Given the description of an element on the screen output the (x, y) to click on. 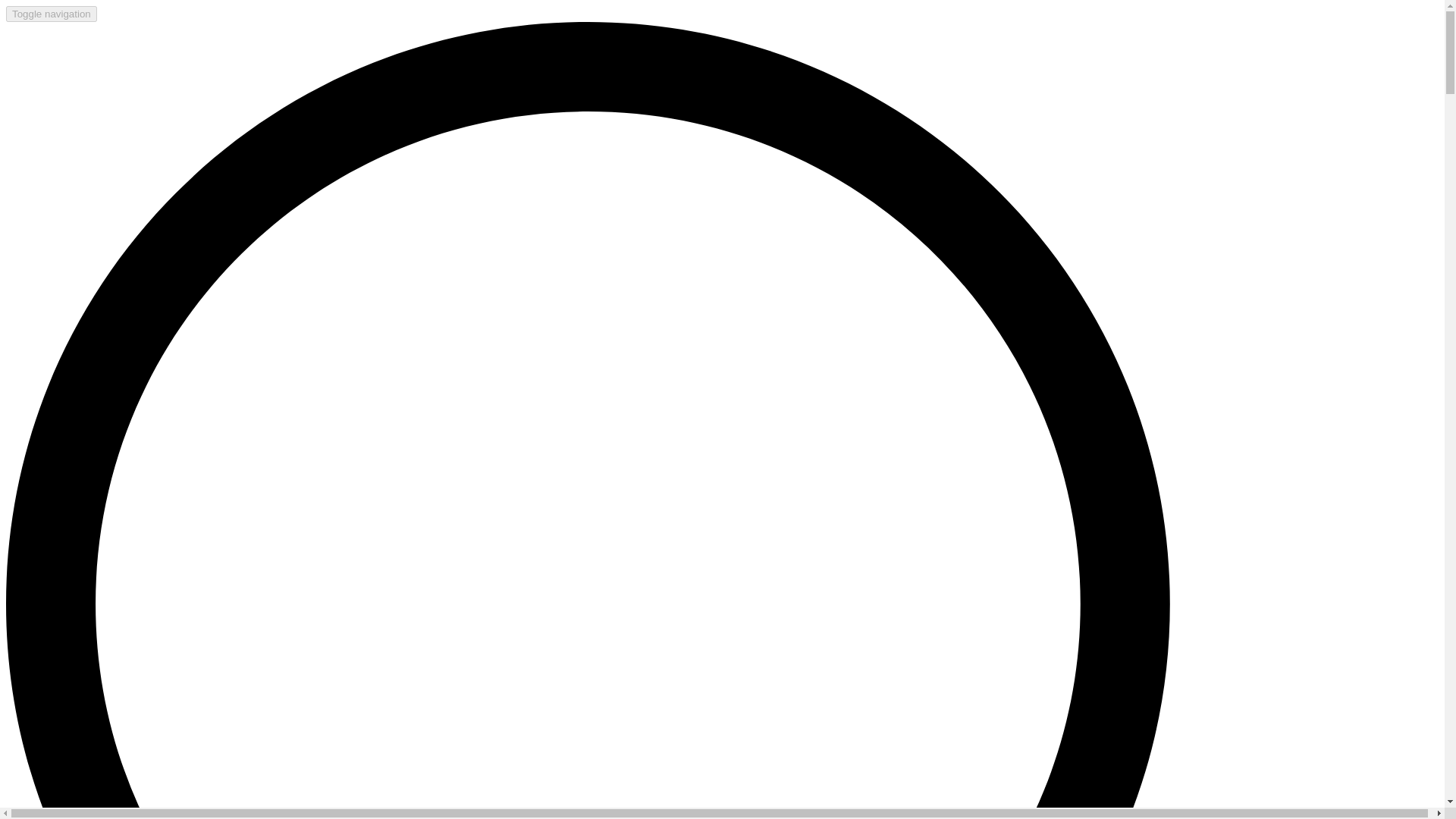
Toggle navigation (51, 13)
